Given the description of an element on the screen output the (x, y) to click on. 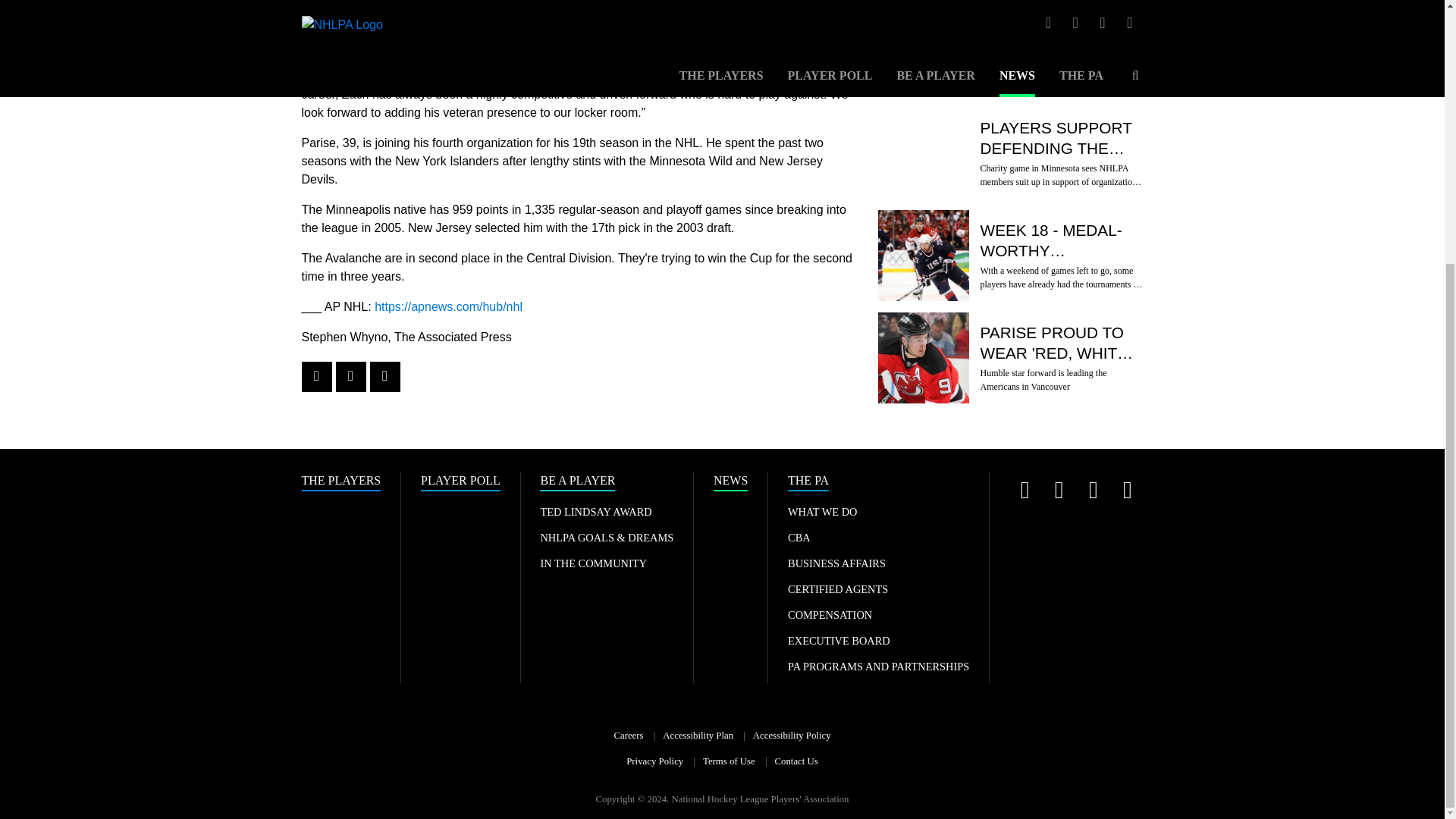
THE PLAYERS (341, 481)
Share to Twitter (349, 376)
NEWS (730, 481)
WHAT WE DO (822, 511)
IN THE COMMUNITY (593, 563)
Twitter (1025, 489)
BE A PLAYER (577, 481)
CERTIFIED AGENTS (837, 589)
BUSINESS AFFAIRS (836, 563)
